Given the description of an element on the screen output the (x, y) to click on. 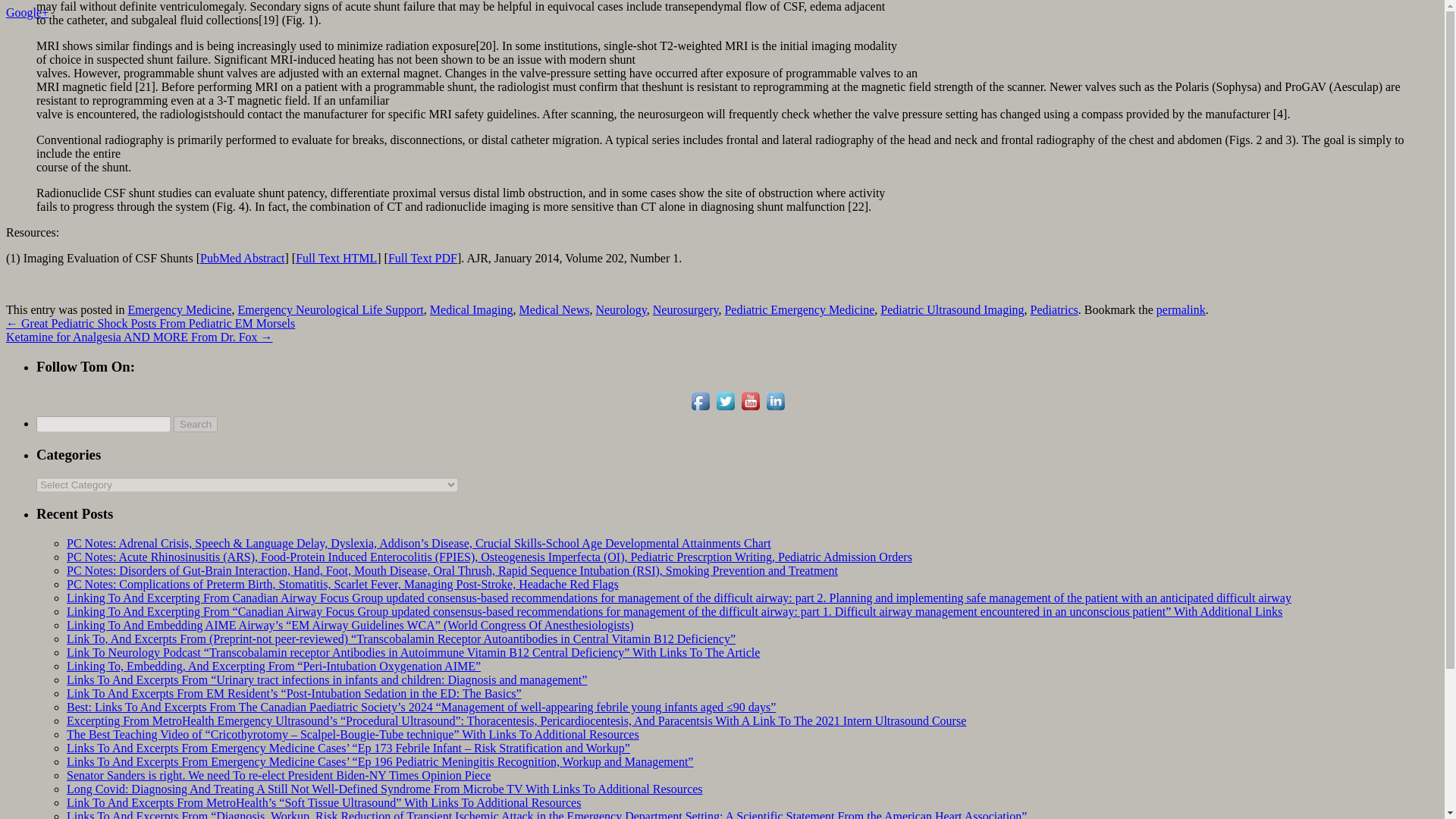
Search (194, 424)
PubMed Abstract (242, 257)
Emergency Medicine (179, 309)
Pediatric Emergency Medicine (799, 309)
permalink (1180, 309)
Medical Imaging (471, 309)
Full Text PDF (422, 257)
Visit Us On Linkedin (774, 408)
Search (194, 424)
Pediatrics (1054, 309)
Medical News (554, 309)
Emergency Neurological Life Support (330, 309)
Visit Us On Twitter (725, 408)
Visit Us On Youtube (748, 408)
Full Text HTML (336, 257)
